Given the description of an element on the screen output the (x, y) to click on. 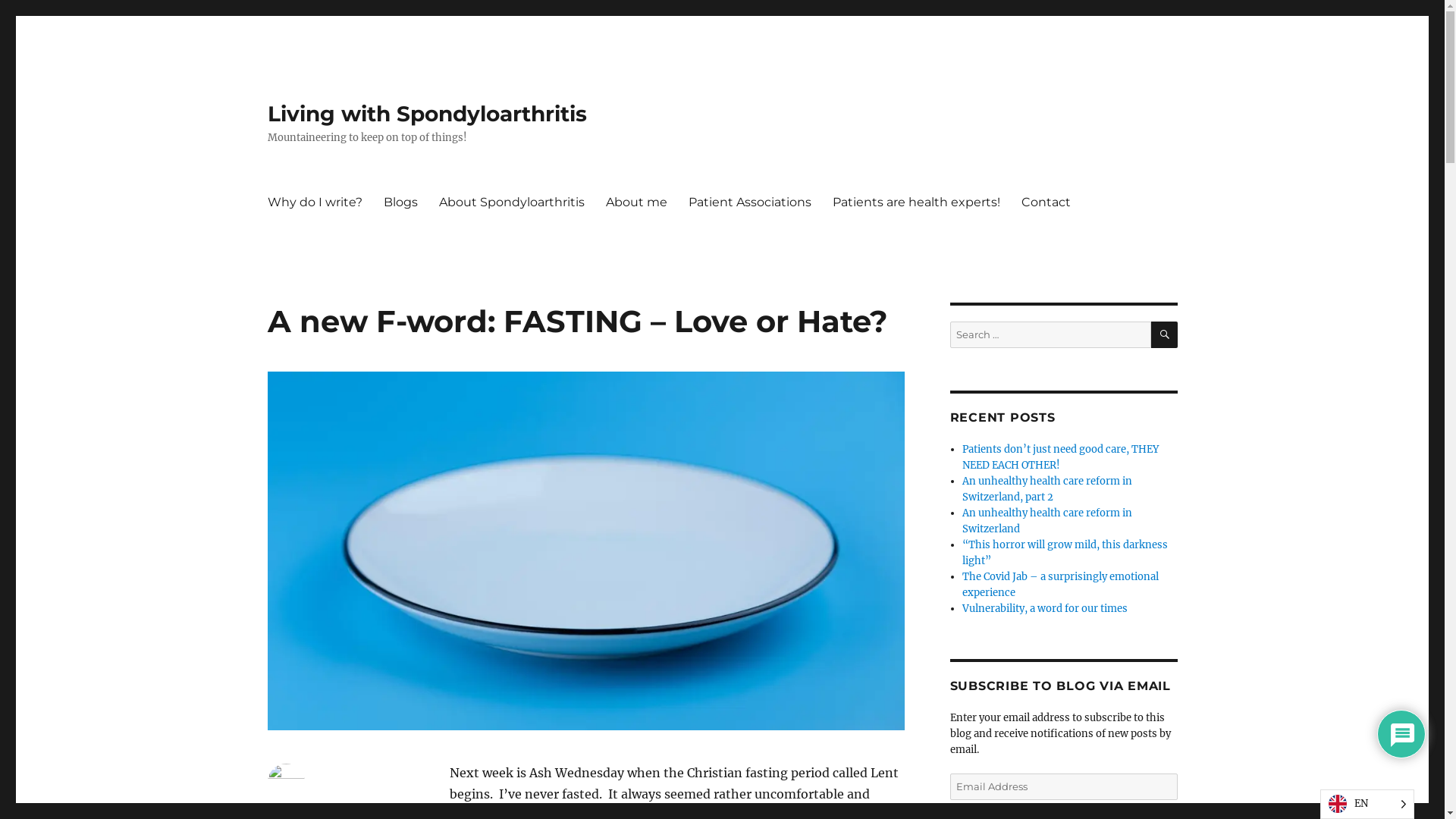
SEARCH Element type: text (1164, 334)
An unhealthy health care reform in Switzerland, part 2 Element type: text (1047, 488)
Patients are health experts! Element type: text (916, 201)
An unhealthy health care reform in Switzerland Element type: text (1047, 520)
Contact Element type: text (1045, 201)
Why do I write? Element type: text (314, 201)
Living with Spondyloarthritis Element type: text (426, 113)
About Spondyloarthritis Element type: text (510, 201)
Patient Associations Element type: text (749, 201)
About me Element type: text (635, 201)
Vulnerability, a word for our times Element type: text (1044, 608)
Blogs Element type: text (400, 201)
